Given the description of an element on the screen output the (x, y) to click on. 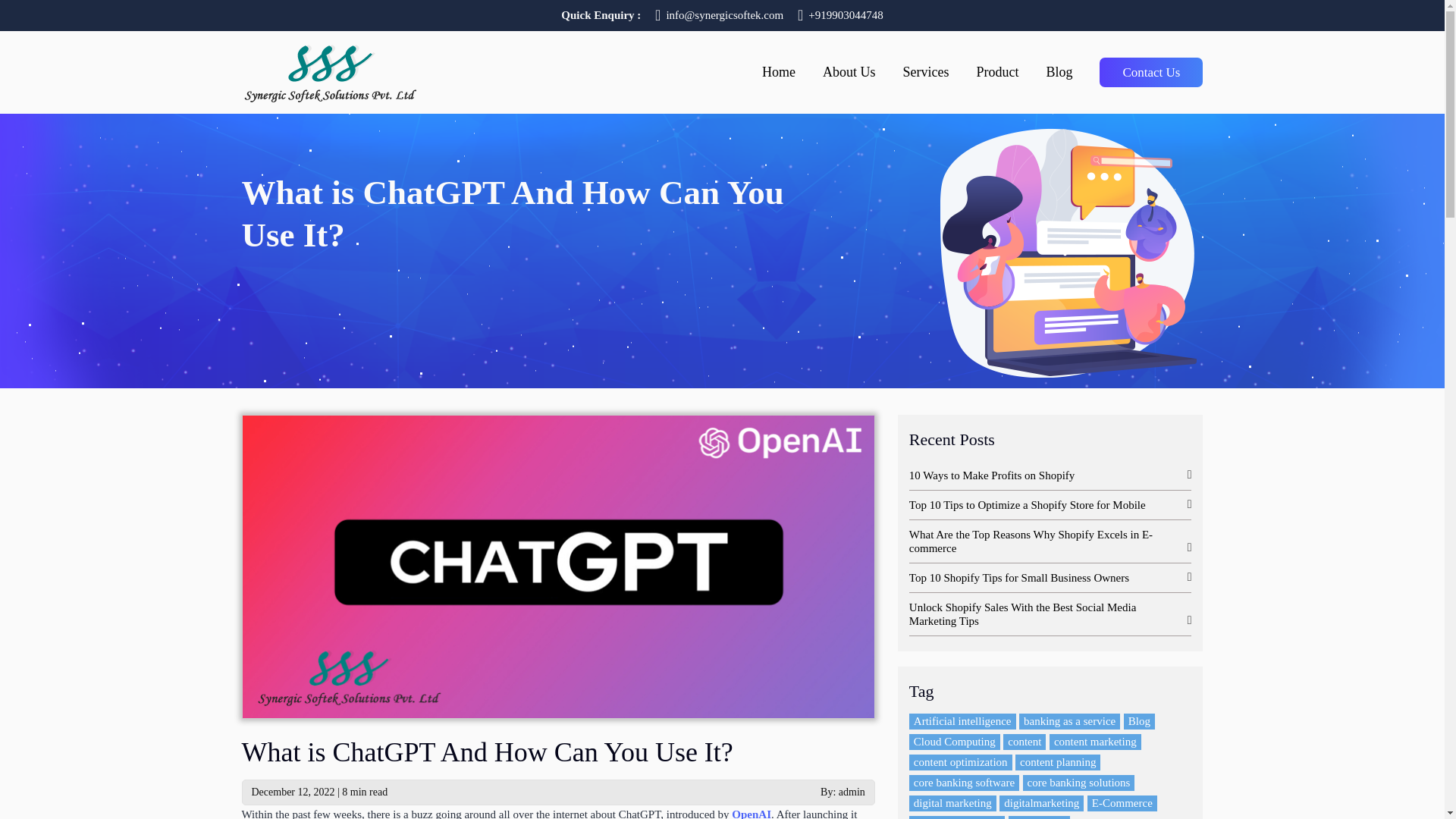
About Us (849, 78)
Website Design and Development Company in Kolkata (328, 70)
Services (925, 78)
Home (777, 78)
